Given the description of an element on the screen output the (x, y) to click on. 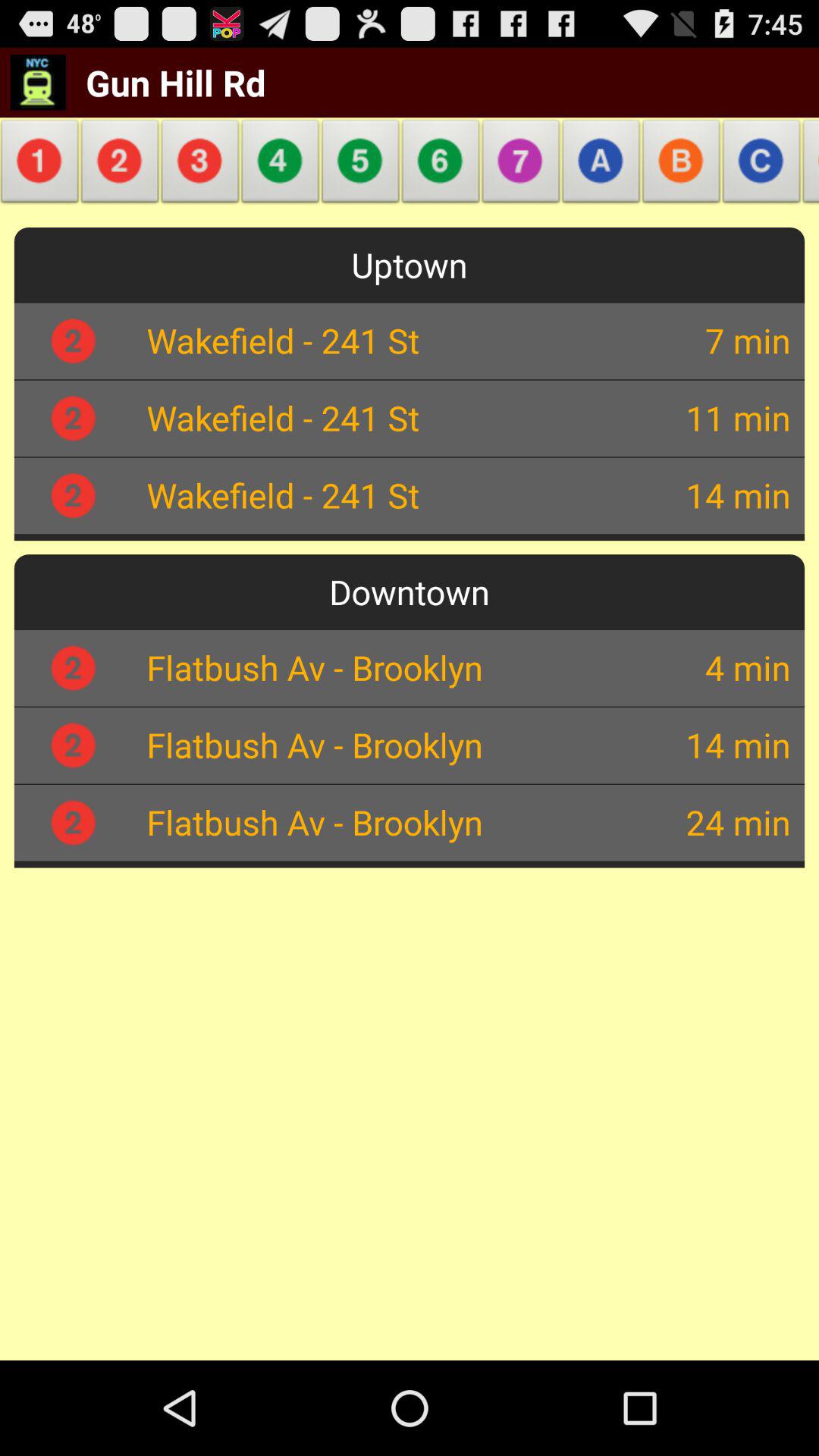
launch the app above the uptown icon (601, 165)
